Given the description of an element on the screen output the (x, y) to click on. 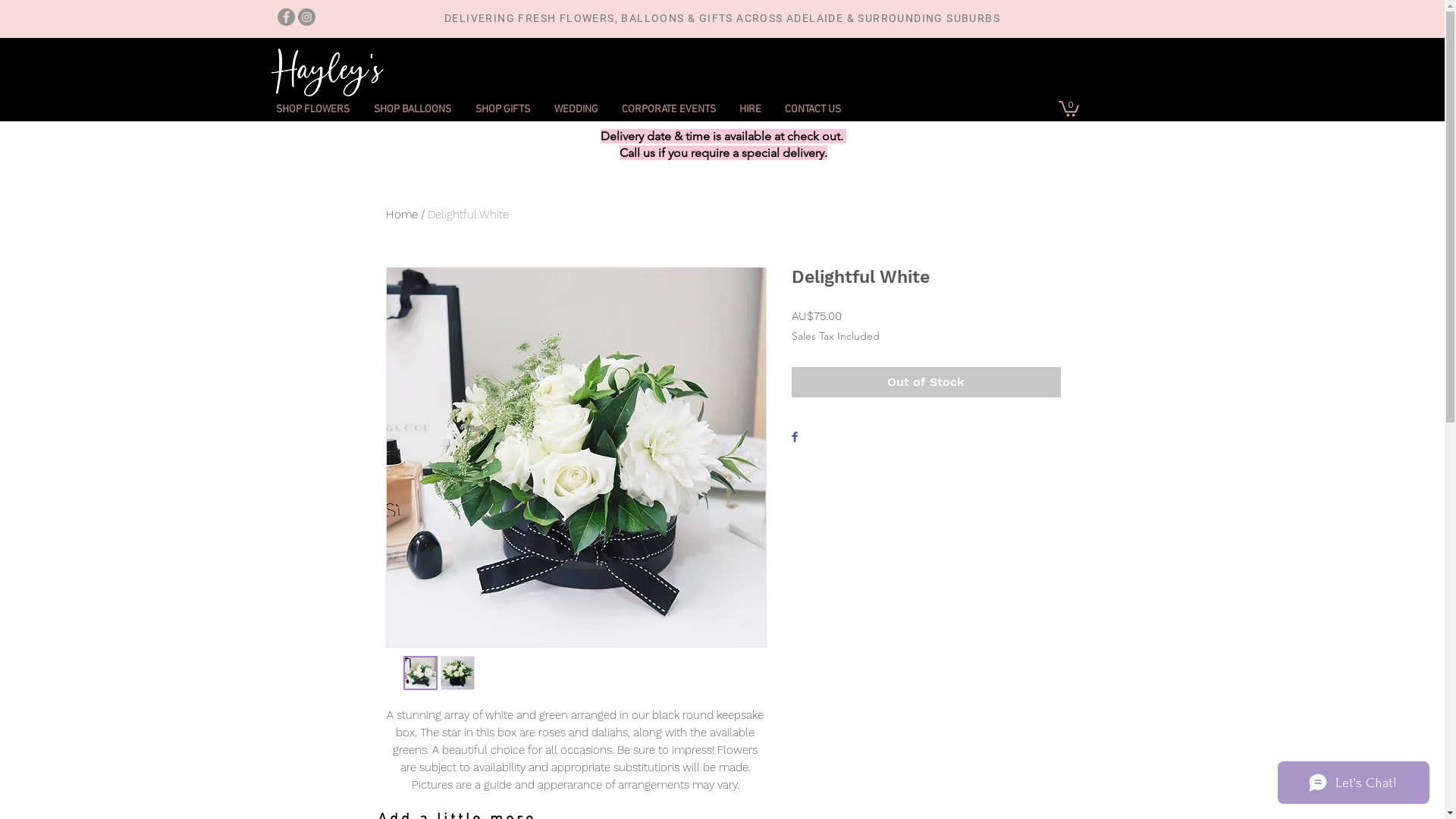
CONTACT US Element type: text (811, 109)
HIRE Element type: text (748, 109)
Home Element type: text (401, 214)
0 Element type: text (1068, 107)
Out of Stock Element type: text (925, 382)
SHOP FLOWERS Element type: text (311, 109)
WEDDING Element type: text (574, 109)
Delightful White Element type: text (467, 214)
SHOP GIFTS Element type: text (501, 109)
SHOP BALLOONS Element type: text (411, 109)
CORPORATE EVENTS Element type: text (668, 109)
